Given the description of an element on the screen output the (x, y) to click on. 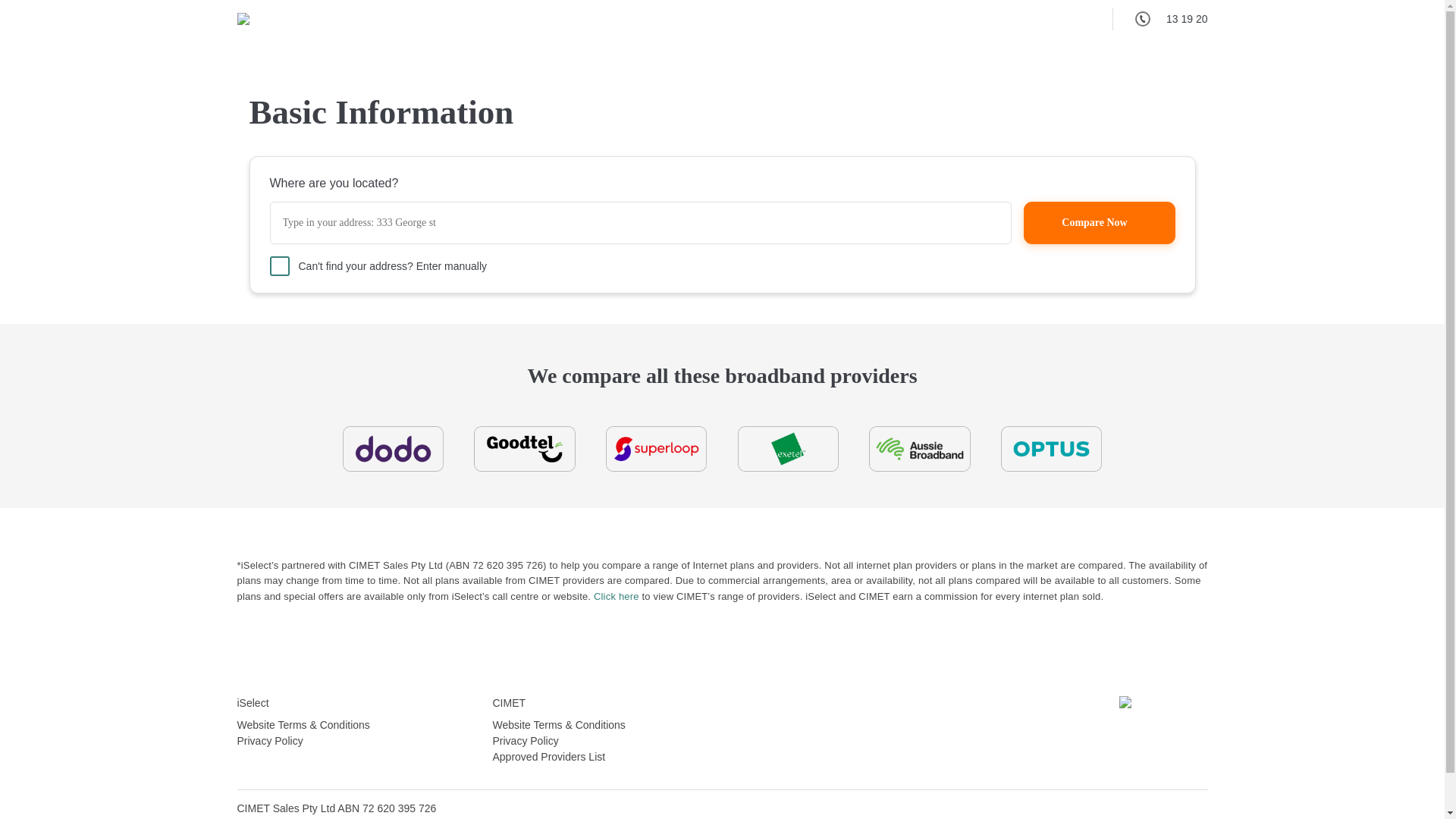
Click here Element type: text (616, 596)
Website Terms & Conditions Element type: text (302, 724)
Compare Now Element type: text (1099, 222)
Privacy Policy Element type: text (269, 740)
Approved Providers List Element type: text (548, 756)
Website Terms & Conditions Element type: text (558, 724)
Privacy Policy Element type: text (525, 740)
13 19 20 Element type: text (1159, 18)
